Given the description of an element on the screen output the (x, y) to click on. 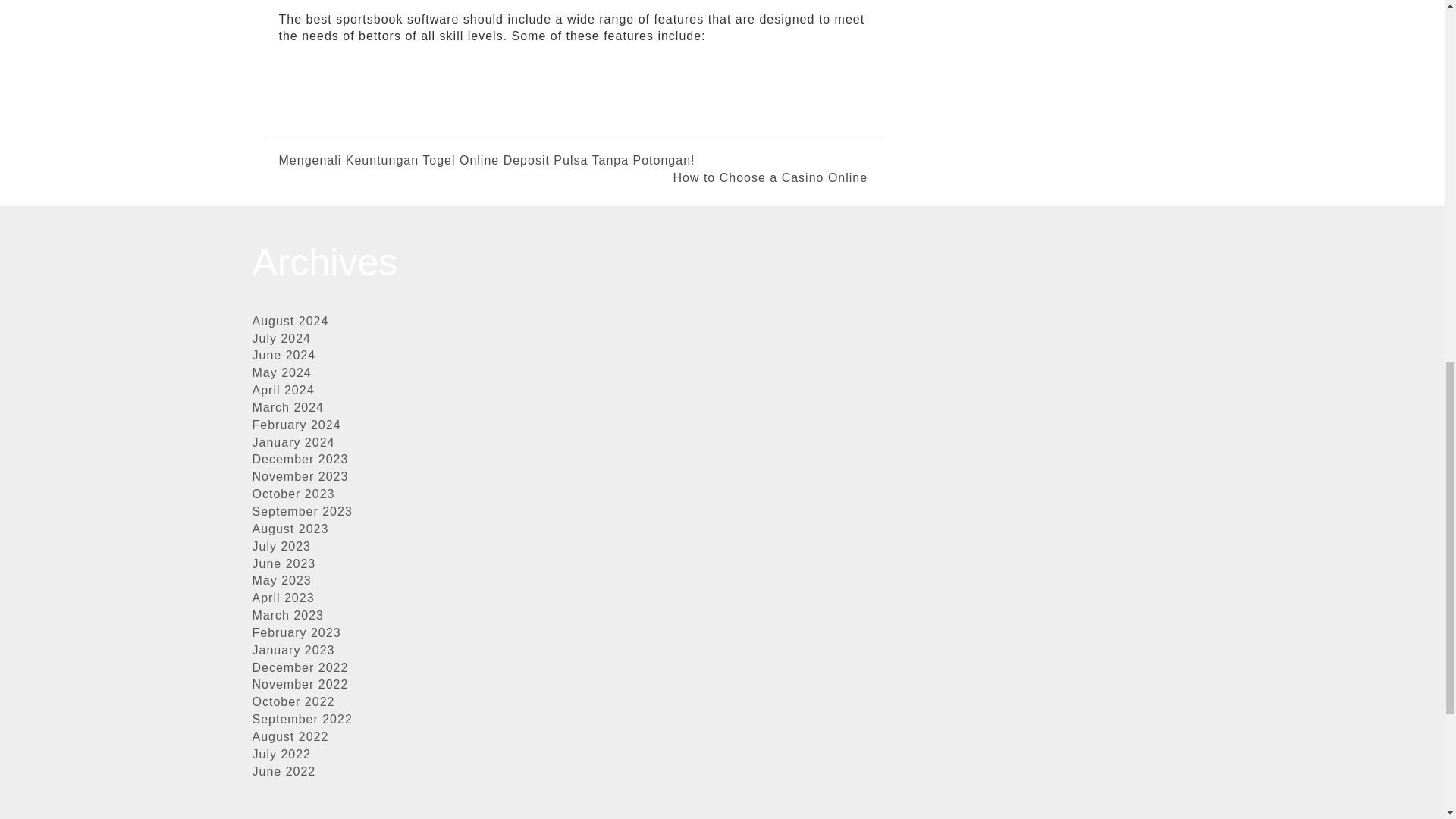
February 2023 (295, 632)
March 2024 (287, 407)
January 2023 (292, 649)
April 2023 (282, 597)
January 2024 (292, 441)
May 2023 (281, 580)
May 2024 (281, 372)
October 2023 (292, 493)
October 2022 (292, 701)
June 2023 (283, 563)
December 2022 (299, 667)
April 2024 (282, 390)
September 2023 (301, 511)
August 2024 (290, 320)
December 2023 (299, 459)
